Given the description of an element on the screen output the (x, y) to click on. 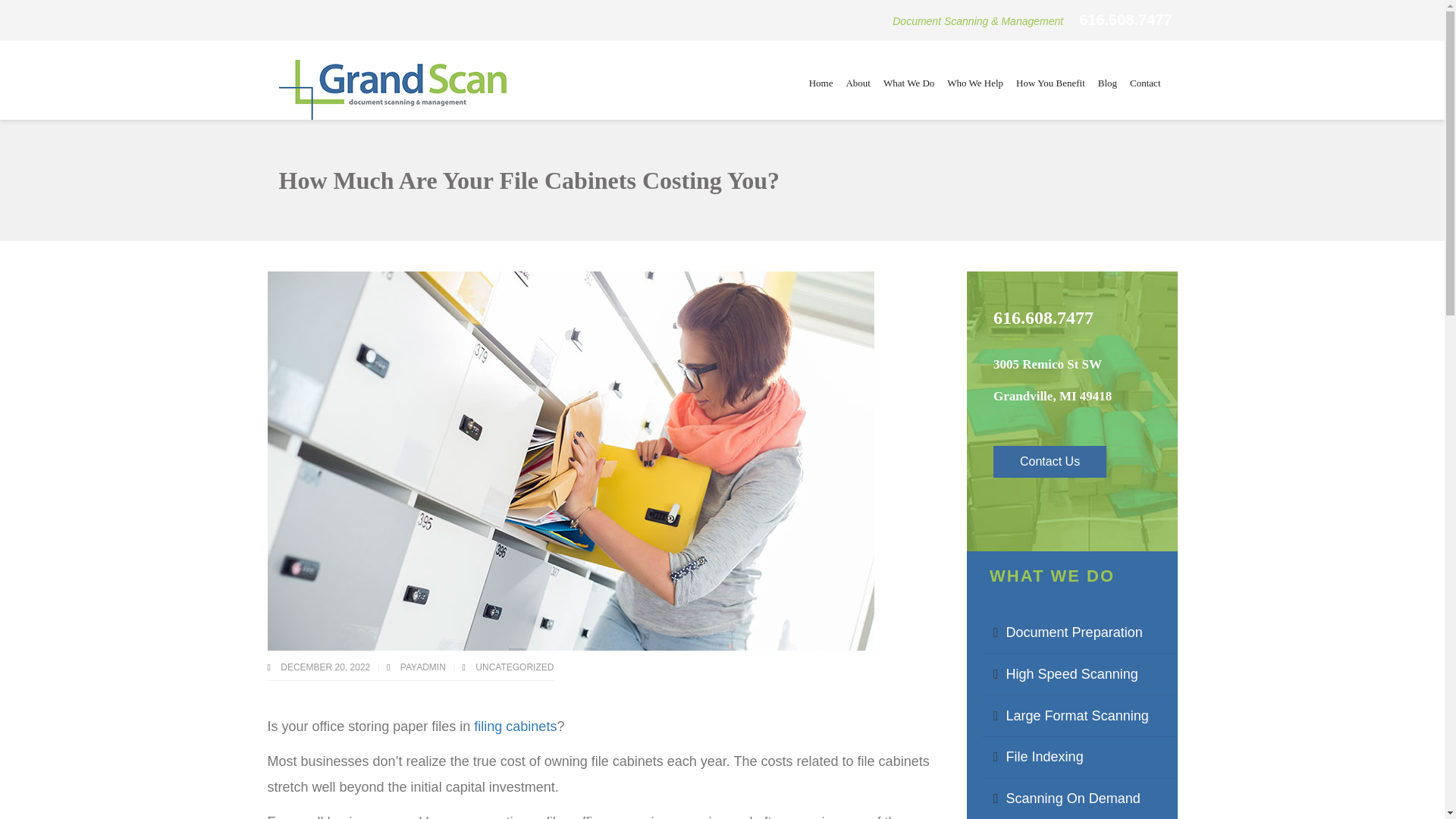
616.608.7477 (1125, 19)
 payadmin (424, 666)
What We Do (908, 82)
